Given the description of an element on the screen output the (x, y) to click on. 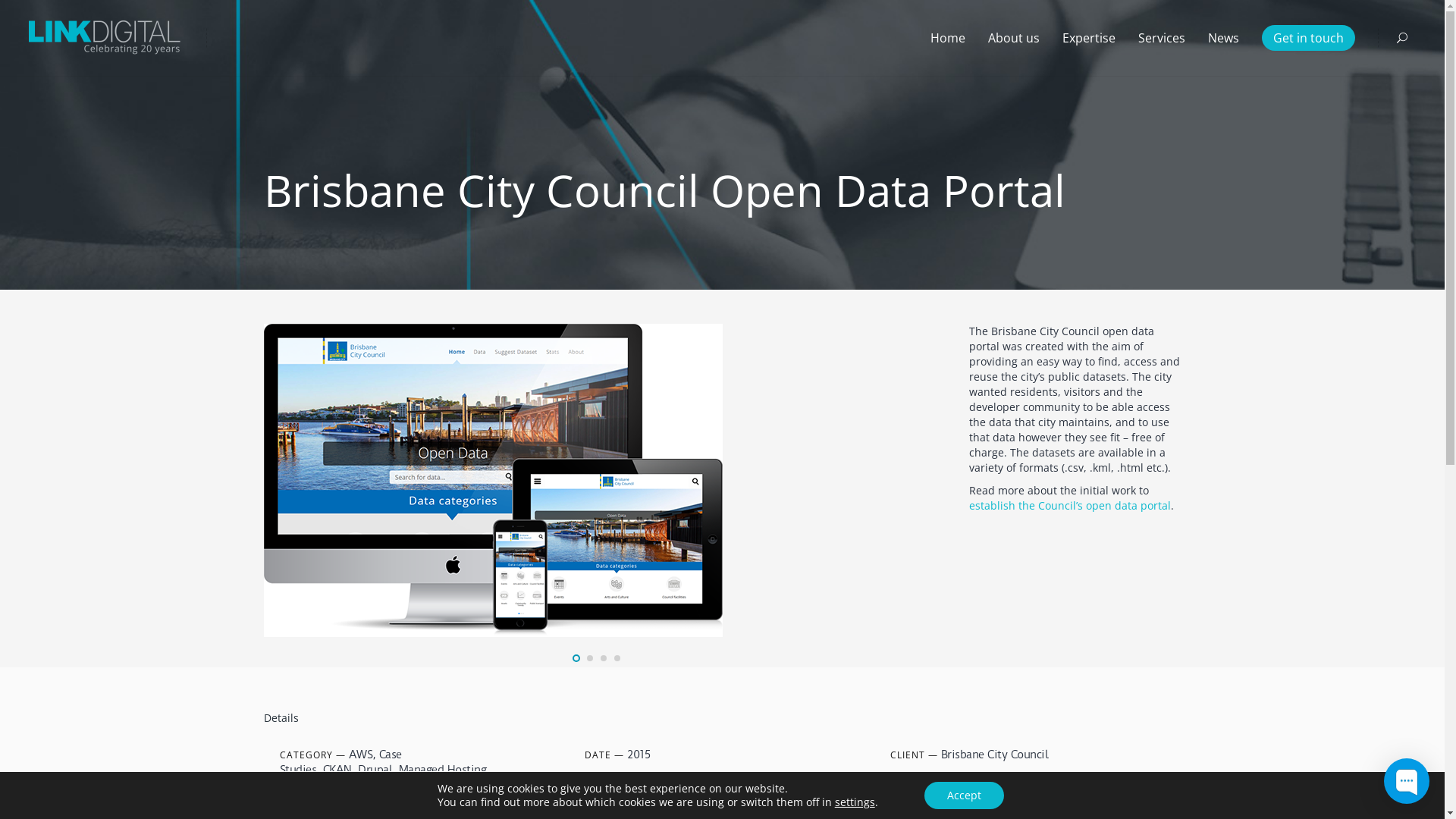
Get in touch Element type: text (1308, 37)
News Element type: text (1223, 37)
Accept Element type: text (964, 795)
Expertise Element type: text (1088, 37)
Services Element type: text (1161, 37)
About us Element type: text (1013, 37)
Home Element type: text (947, 37)
